Given the description of an element on the screen output the (x, y) to click on. 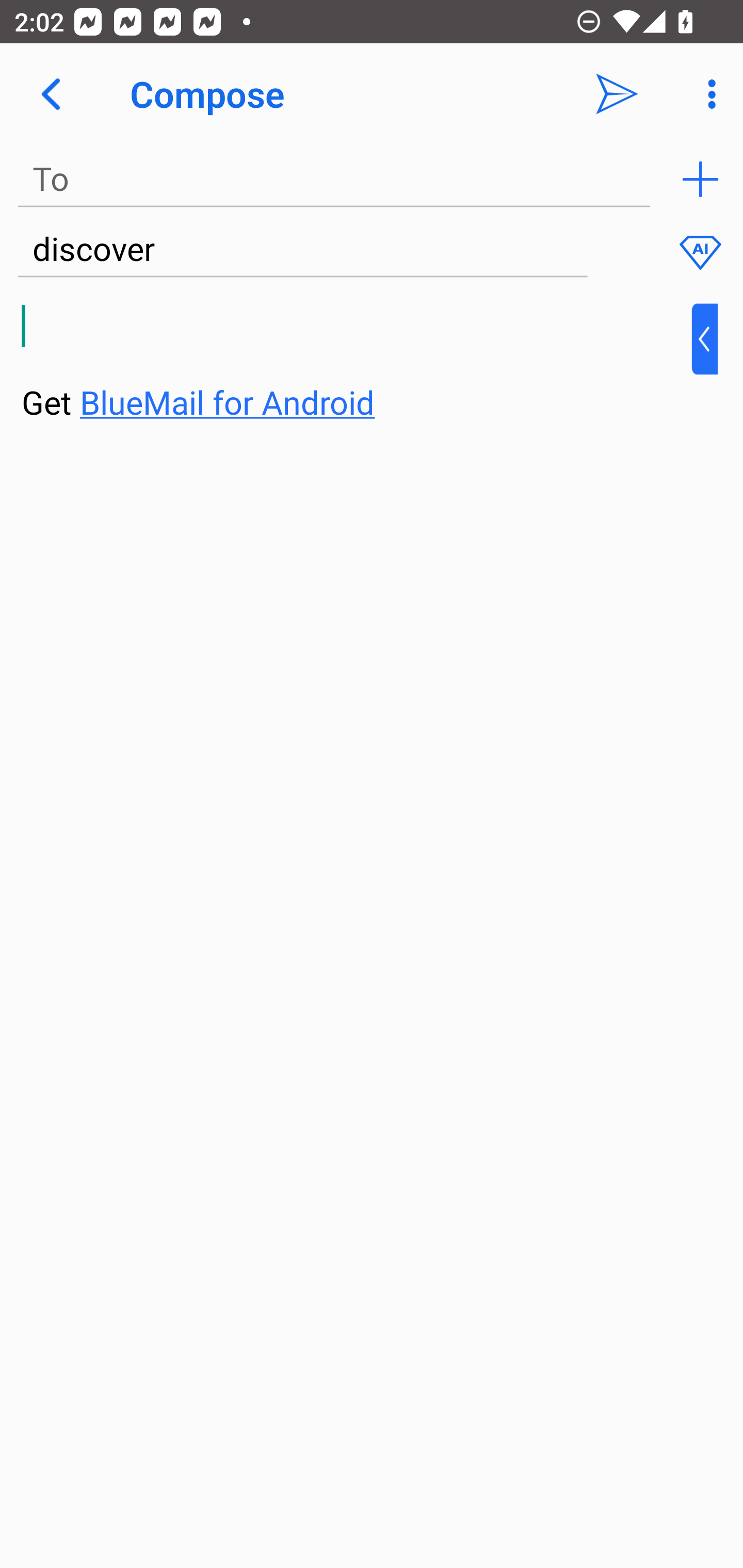
Navigate up (50, 93)
Send (616, 93)
More Options (706, 93)
To (334, 179)
Add recipient (To) (699, 179)
discover (302, 249)


⁣Get BlueMail for Android ​ (355, 363)
